Given the description of an element on the screen output the (x, y) to click on. 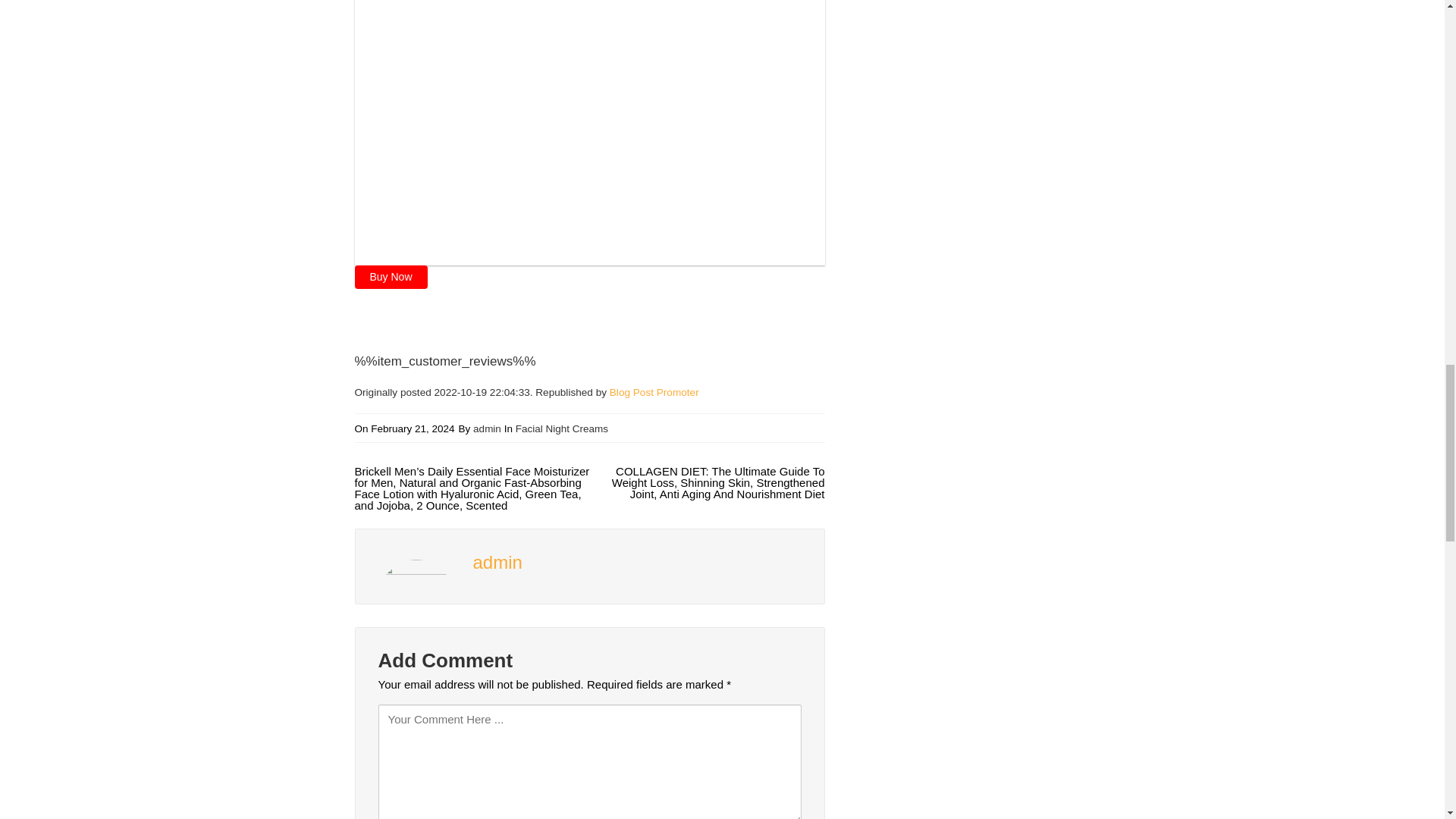
admin (497, 562)
View all posts by admin (486, 428)
Posts by admin (497, 562)
Blog Post Promoter (654, 392)
Buy Now (391, 277)
admin (486, 428)
Facial Night Creams (561, 428)
